Given the description of an element on the screen output the (x, y) to click on. 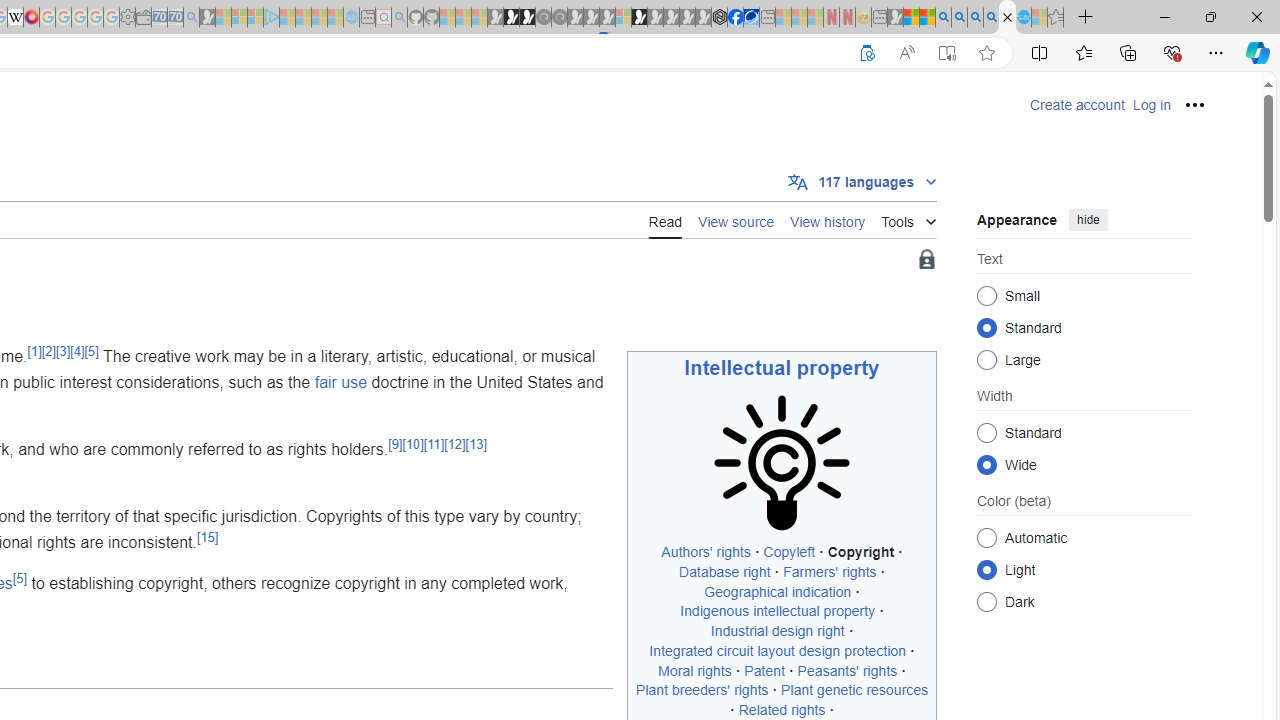
Wide (986, 464)
Read (665, 219)
Favorites (1083, 52)
AirNow.gov (751, 17)
